Given the description of an element on the screen output the (x, y) to click on. 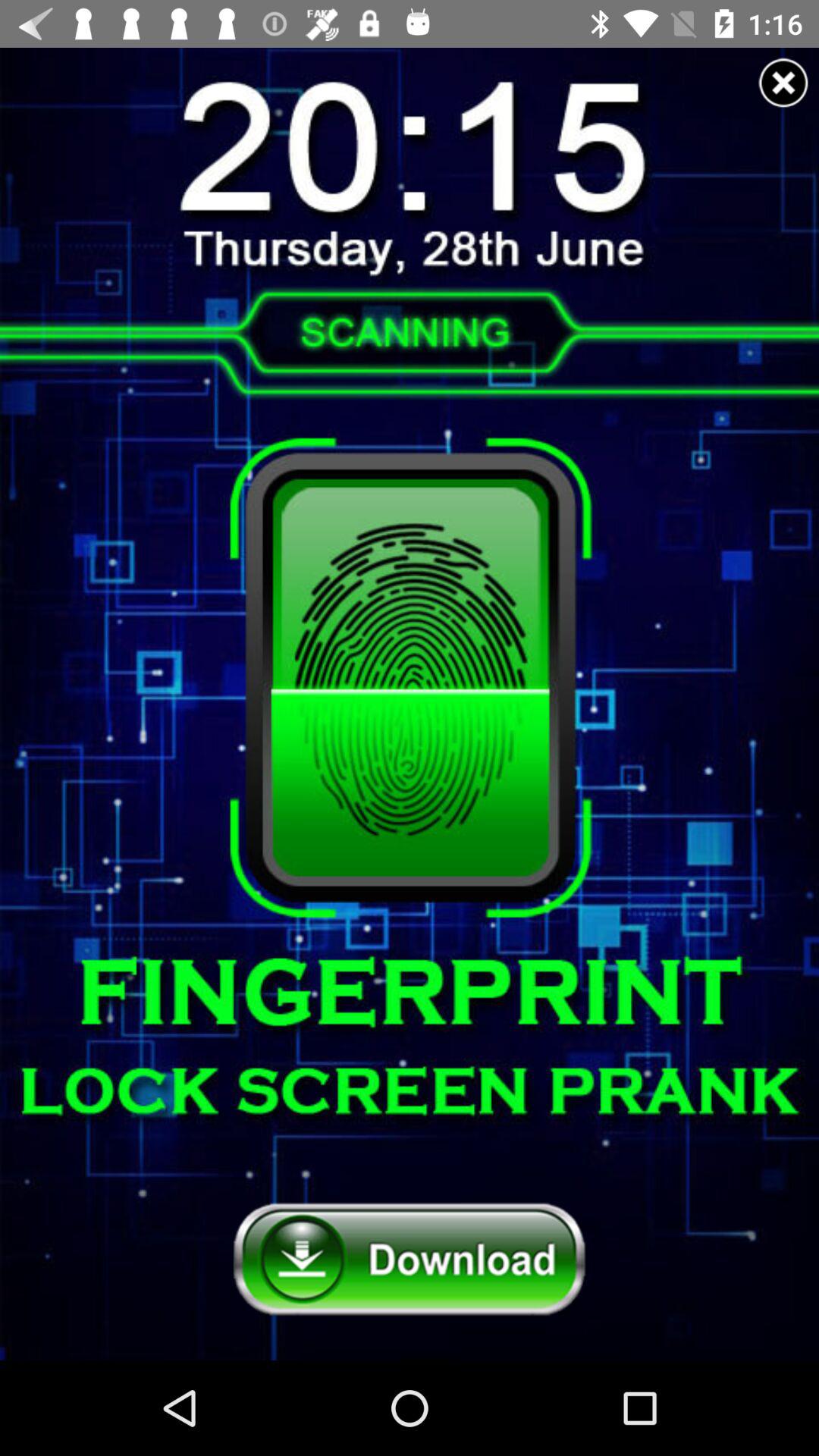
download app (409, 1260)
